Given the description of an element on the screen output the (x, y) to click on. 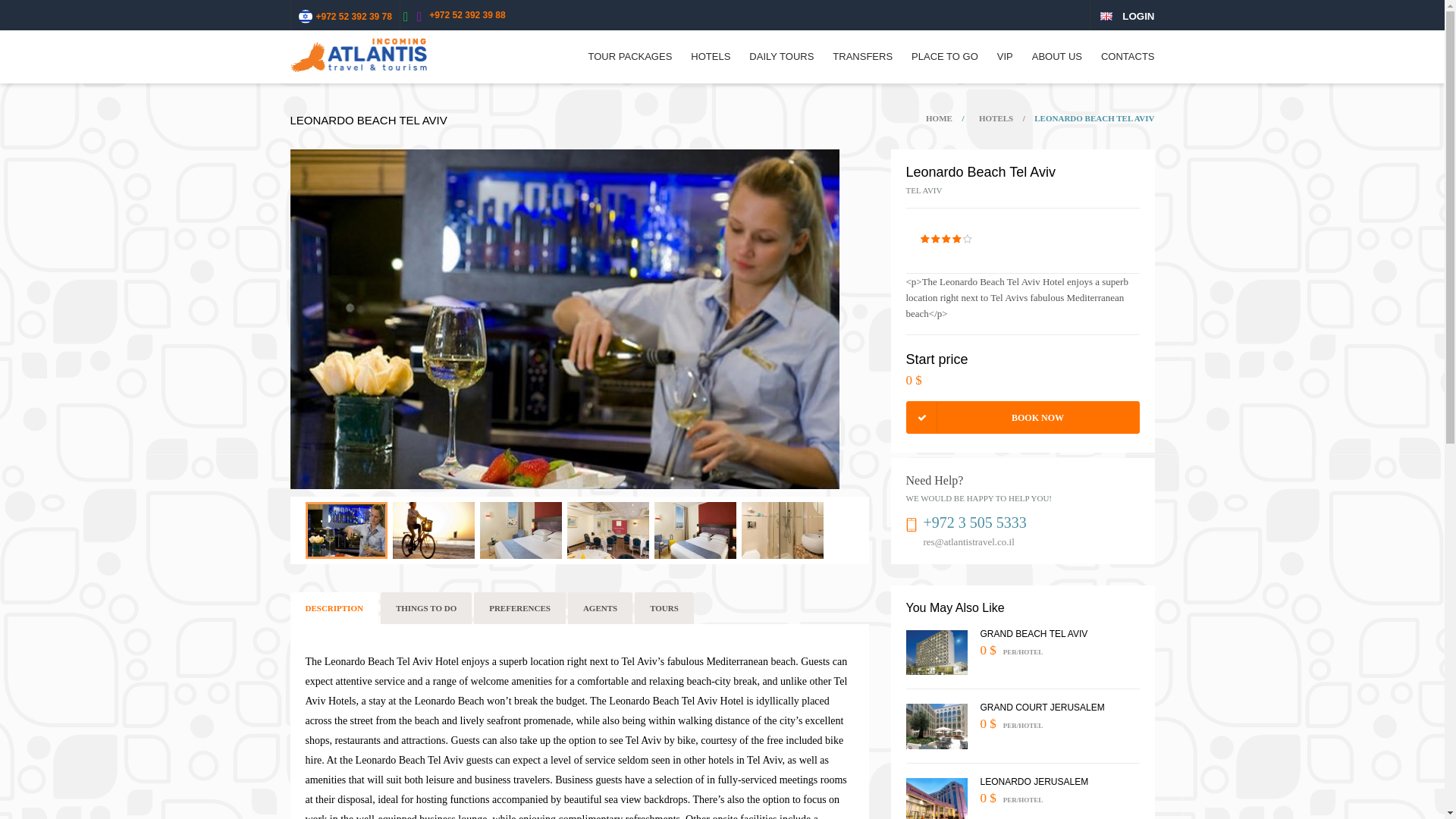
LOGIN (1138, 15)
TOUR PACKAGES (630, 62)
LOGIN (1138, 16)
ABOUT US (1056, 62)
DAILY TOURS (781, 62)
PLACE TO GO (944, 62)
CONTACTS (1127, 62)
HOTELS (710, 62)
TRANSFERS (862, 62)
